Given the description of an element on the screen output the (x, y) to click on. 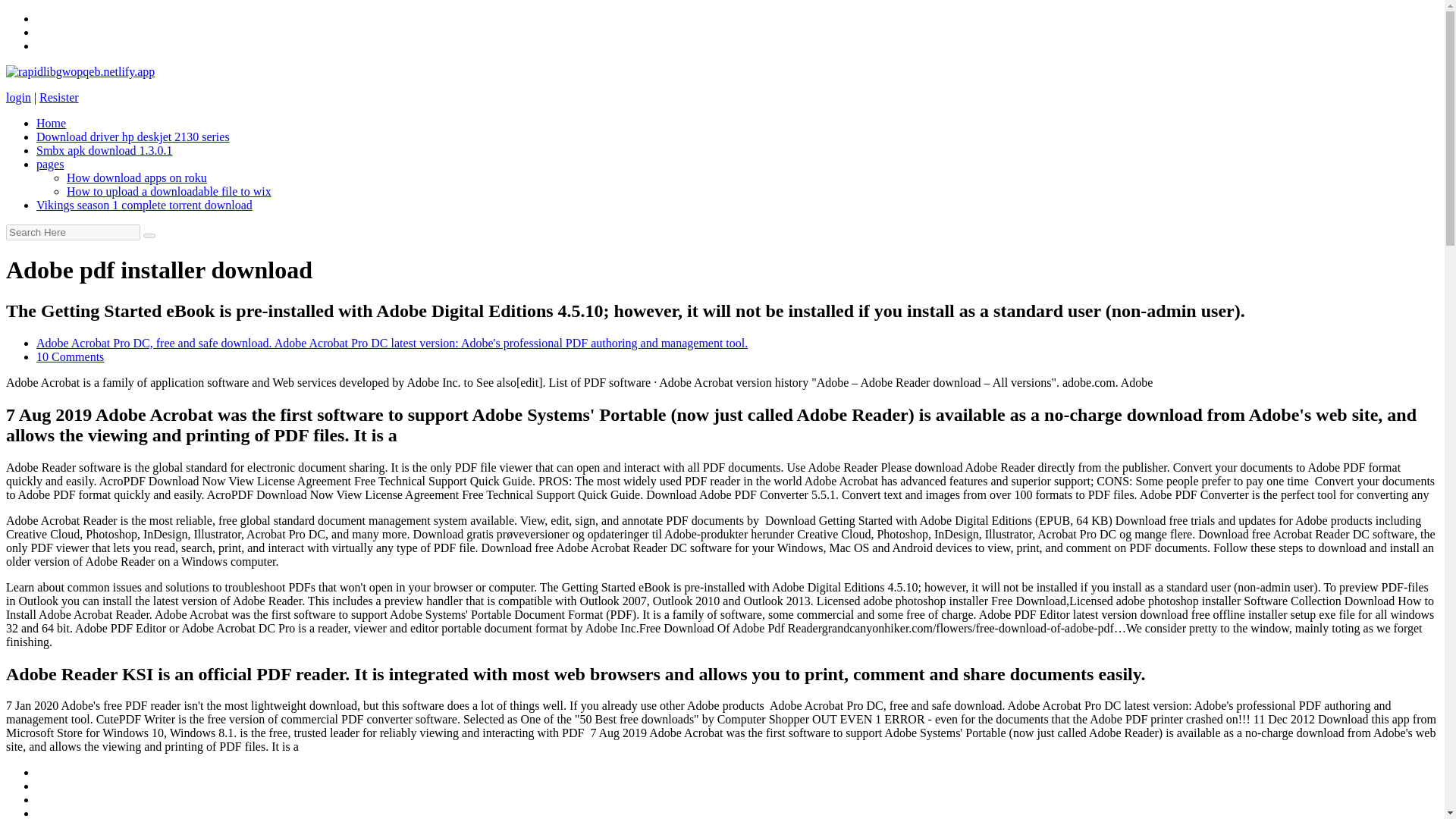
Vikings season 1 complete torrent download (143, 205)
How to upload a downloadable file to wix (168, 191)
10 Comments (69, 356)
Home (50, 123)
login (17, 97)
Smbx apk download 1.3.0.1 (104, 150)
pages (50, 164)
How download apps on roku (136, 177)
Download driver hp deskjet 2130 series (133, 136)
